Given the description of an element on the screen output the (x, y) to click on. 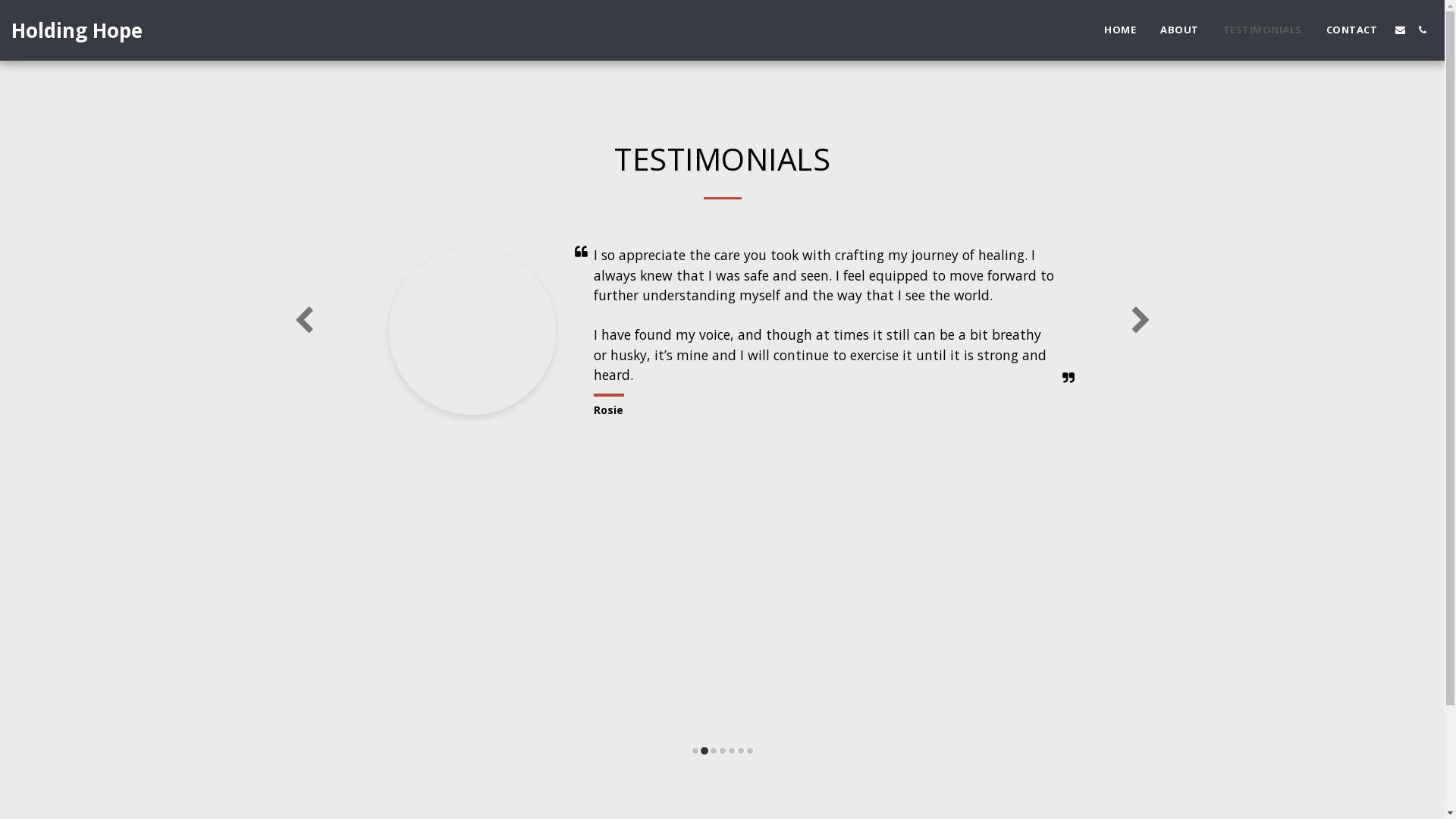
Holding Hope Element type: text (76, 30)
TESTIMONIALS Element type: text (1262, 29)
  Element type: text (1422, 29)
HOME Element type: text (1119, 29)
CONTACT Element type: text (1351, 29)
ABOUT Element type: text (1179, 29)
  Element type: text (1400, 29)
